Given the description of an element on the screen output the (x, y) to click on. 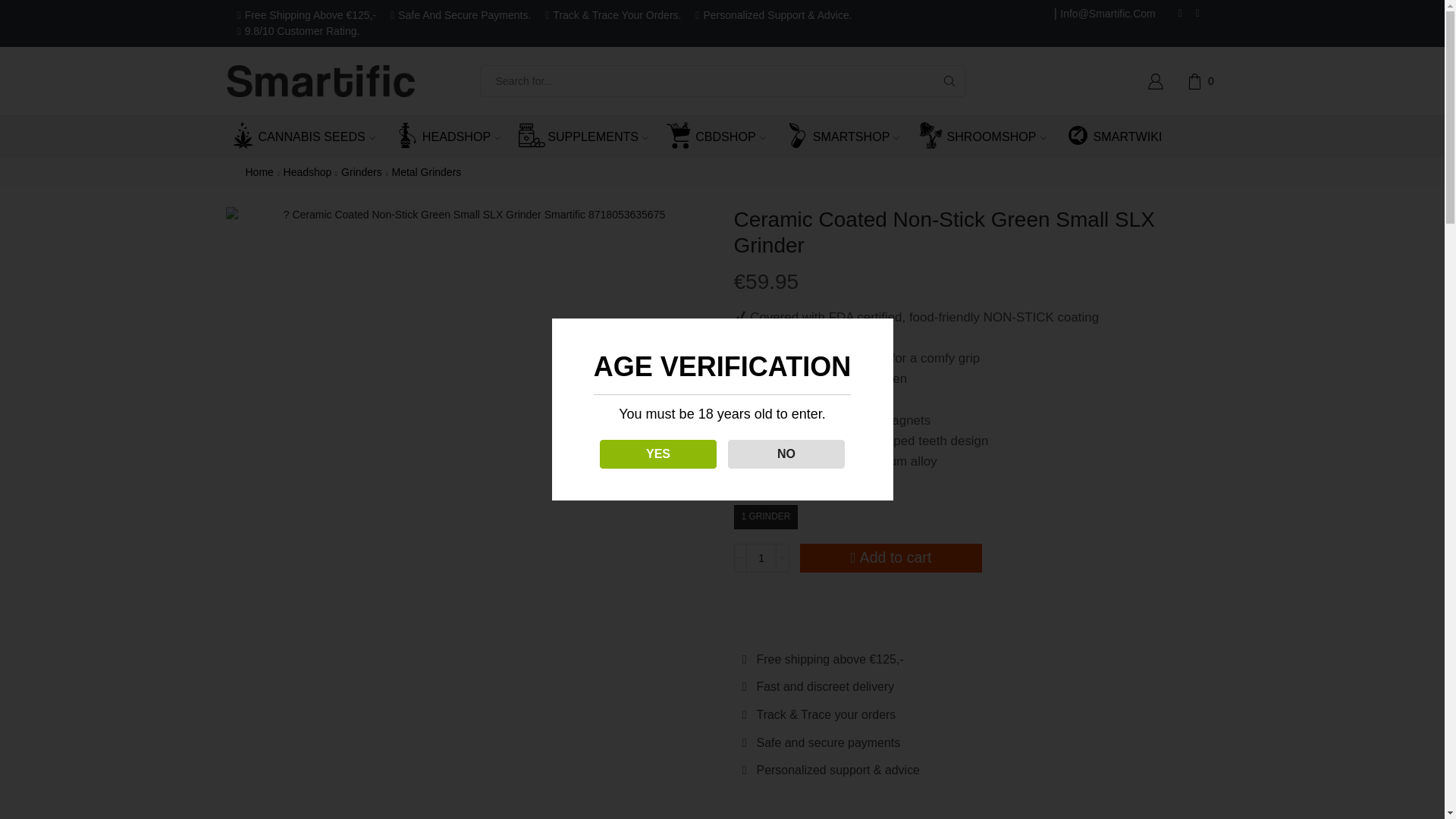
YES (637, 453)
CBDSHOP (725, 136)
Log in (1048, 329)
SMARTWIKI (1122, 136)
SHROOMSHOP (990, 136)
1 (761, 557)
SMARTSHOP (851, 136)
HEADSHOP (455, 136)
NO (771, 453)
SUPPLEMENTS (592, 136)
0 (1202, 80)
CANNABIS SEEDS (310, 136)
